Given the description of an element on the screen output the (x, y) to click on. 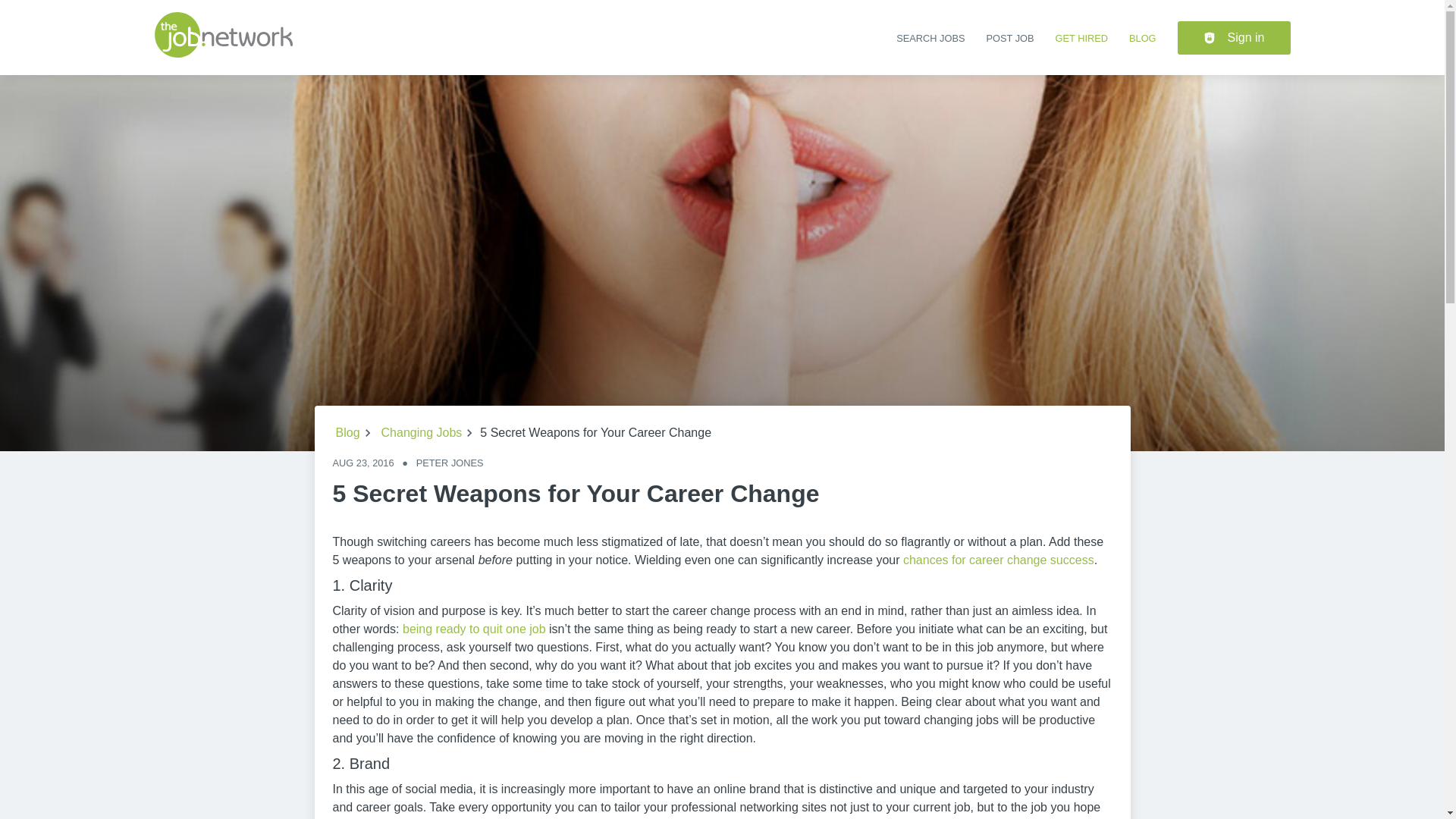
POST JOB (1009, 37)
Blog (346, 433)
GET HIRED (1081, 37)
BLOG (1142, 37)
chances for career change success (998, 559)
being ready to quit one job (474, 628)
SEARCH JOBS (929, 37)
Sign in (1233, 37)
Changing Jobs (422, 433)
